Given the description of an element on the screen output the (x, y) to click on. 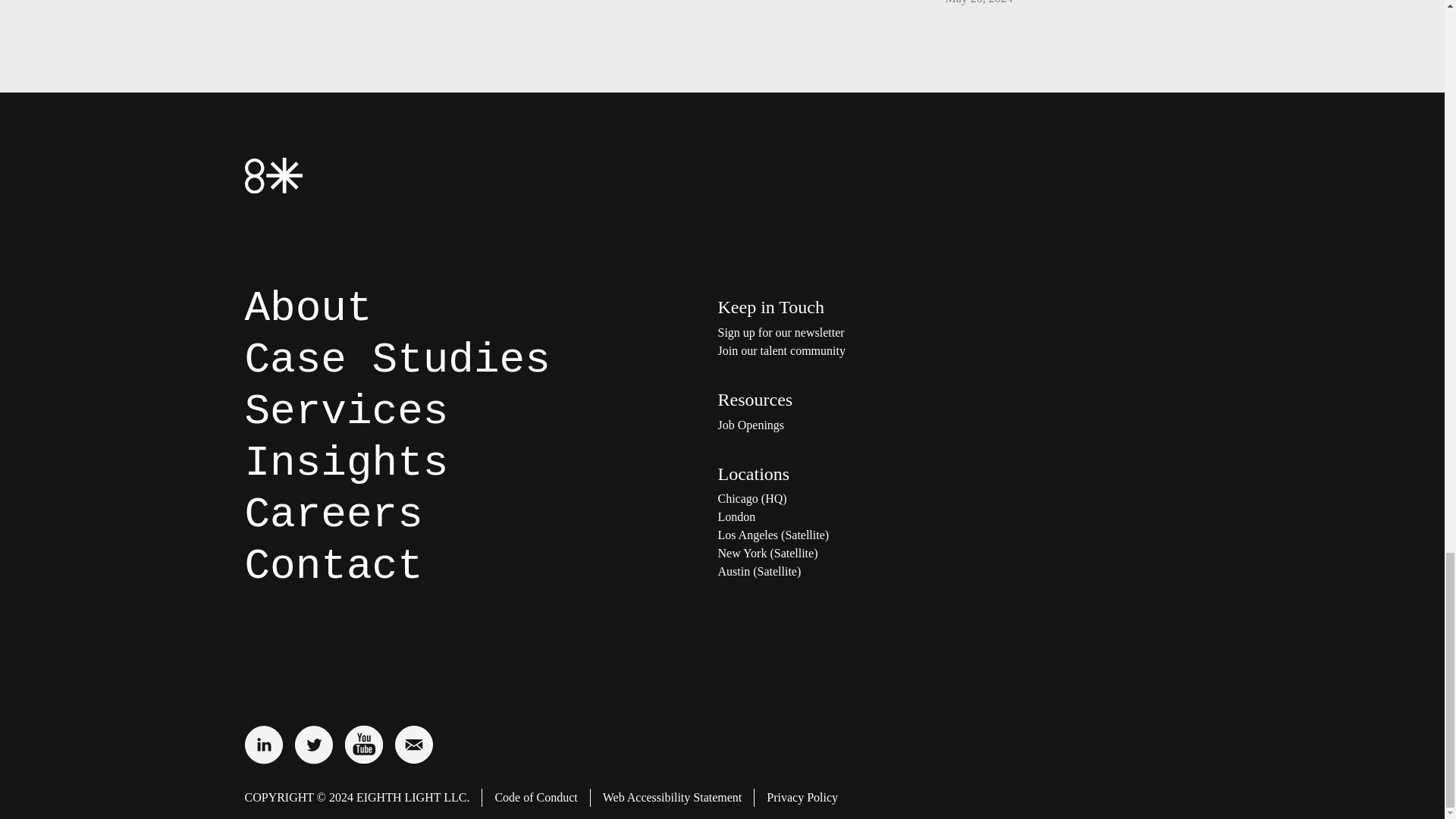
Case Studies (397, 359)
About (307, 308)
Job Openings (868, 425)
Sign up for our newsletter (868, 332)
Join our talent community (868, 351)
Services (346, 411)
Code of Conduct (535, 797)
Contact (333, 566)
Careers (333, 514)
Insights (346, 462)
